Given the description of an element on the screen output the (x, y) to click on. 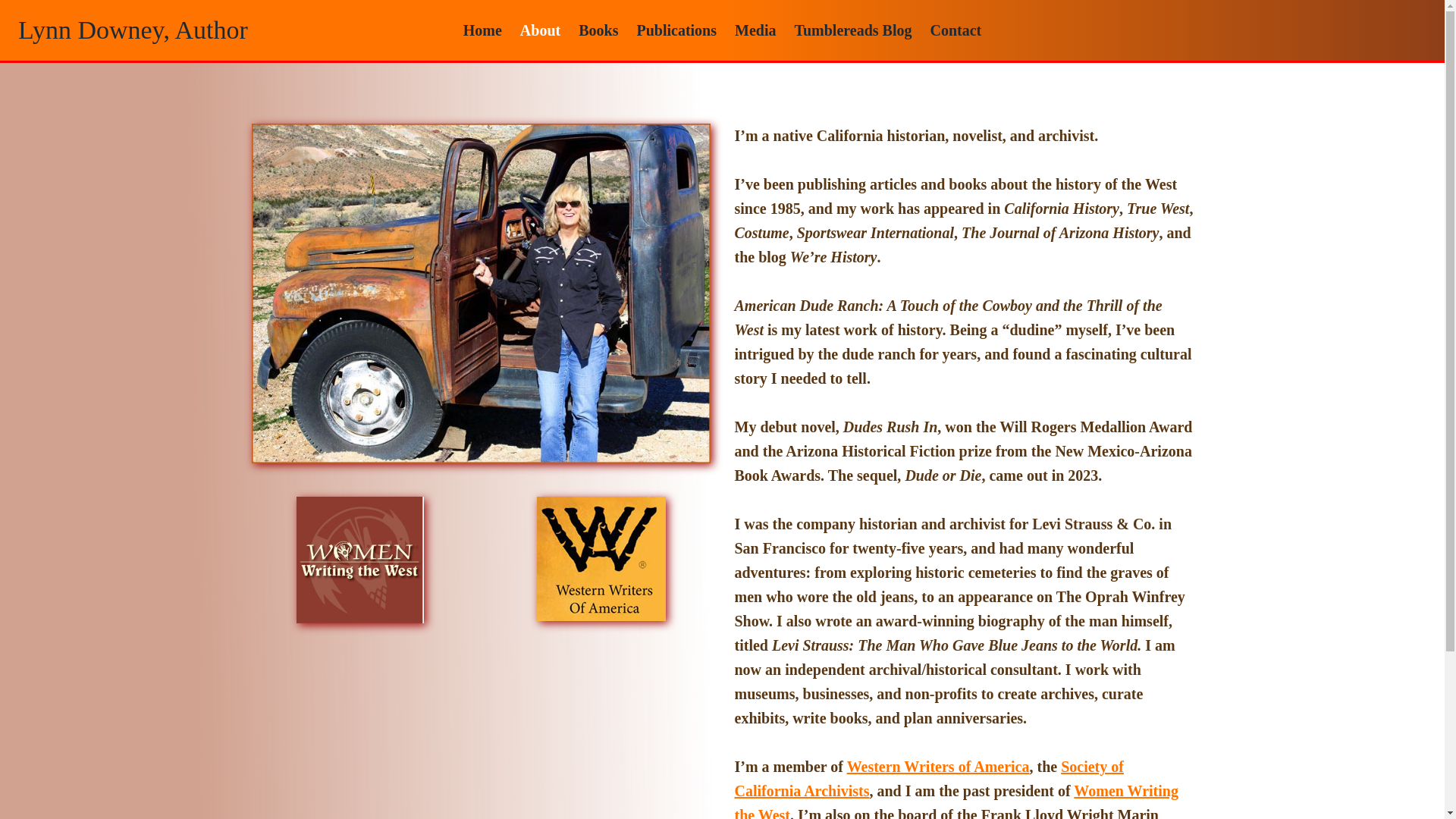
Society of California Archivists (927, 778)
Tumblereads Blog (852, 30)
Contact (955, 30)
Books (598, 30)
Publications (676, 30)
Lynn Downey, Author (132, 30)
Media (754, 30)
Western Writers of America (938, 766)
Home (482, 30)
About (540, 30)
Women Writing the West (955, 800)
